Given the description of an element on the screen output the (x, y) to click on. 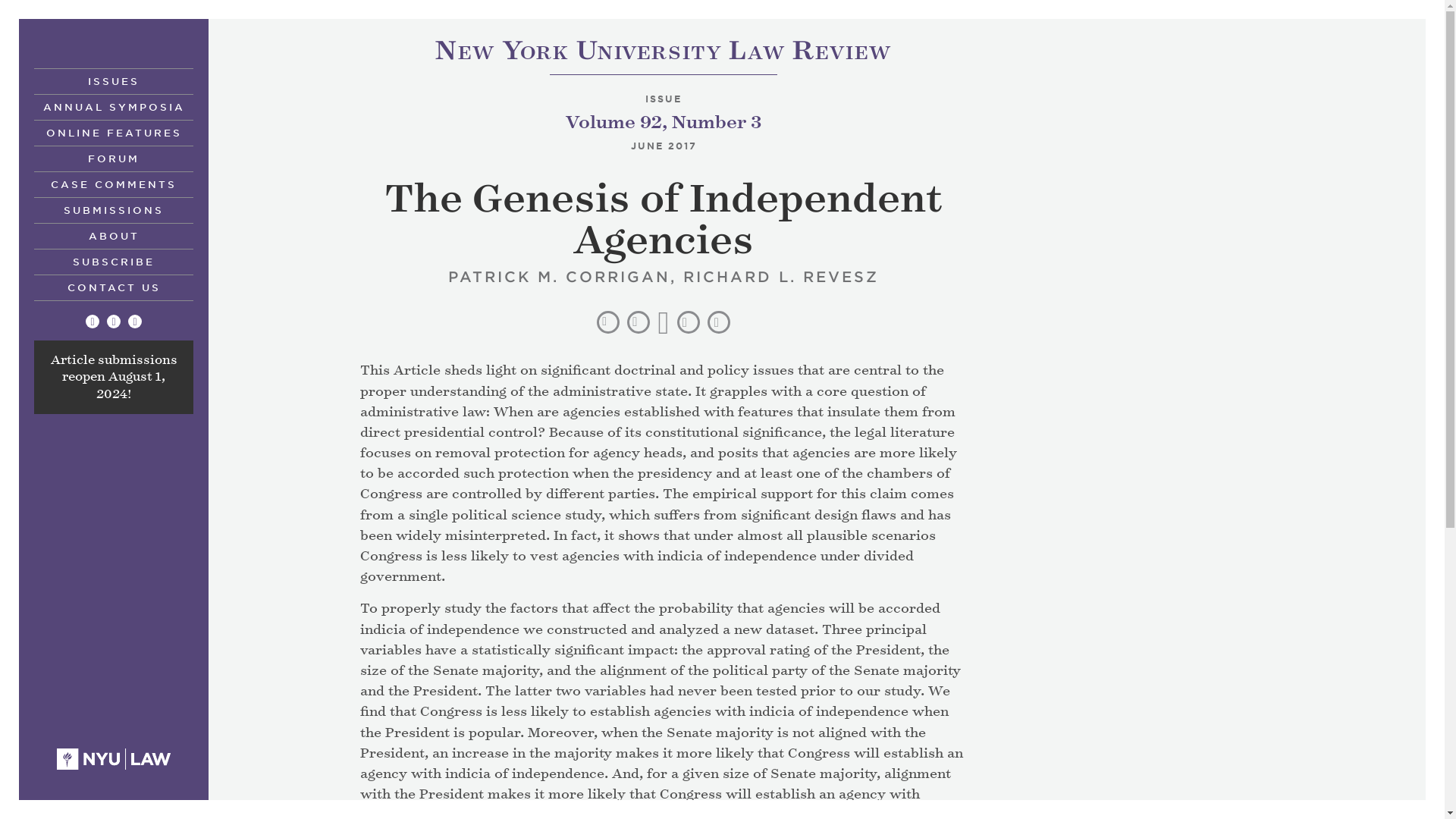
SUBSCRIBE (113, 261)
ABOUT (663, 52)
Linkedin (113, 235)
Article submissions reopen August 1, 2024! (134, 321)
CONTACT US (112, 377)
Twitter (113, 287)
Facebook (92, 321)
CASE COMMENTS (113, 321)
